Given the description of an element on the screen output the (x, y) to click on. 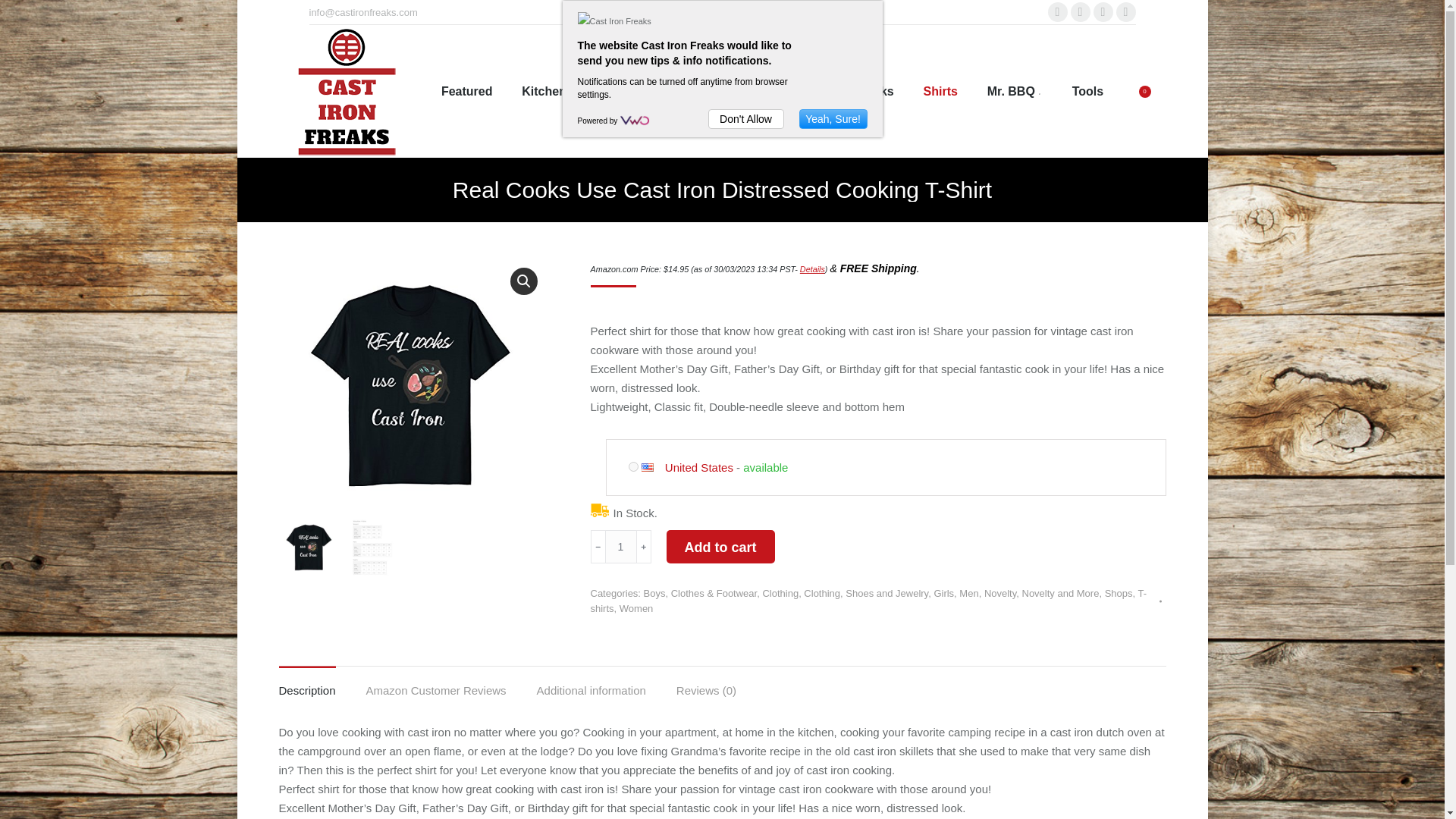
on (632, 466)
Facebook page opens in new window (1057, 12)
Instagram page opens in new window (1125, 12)
Instagram page opens in new window (1125, 12)
Pinterest page opens in new window (1103, 12)
1 (619, 546)
Sports and Outdoors (733, 91)
Facebook page opens in new window (1057, 12)
Kitchen and Dining (580, 91)
 0 (1142, 91)
Pinterest page opens in new window (1103, 12)
Twitter page opens in new window (1080, 12)
Go! (24, 16)
Real-Cooks-Use-Cast-Iron-Distressed-Cooking-T-Shirt (411, 384)
Twitter page opens in new window (1080, 12)
